Given the description of an element on the screen output the (x, y) to click on. 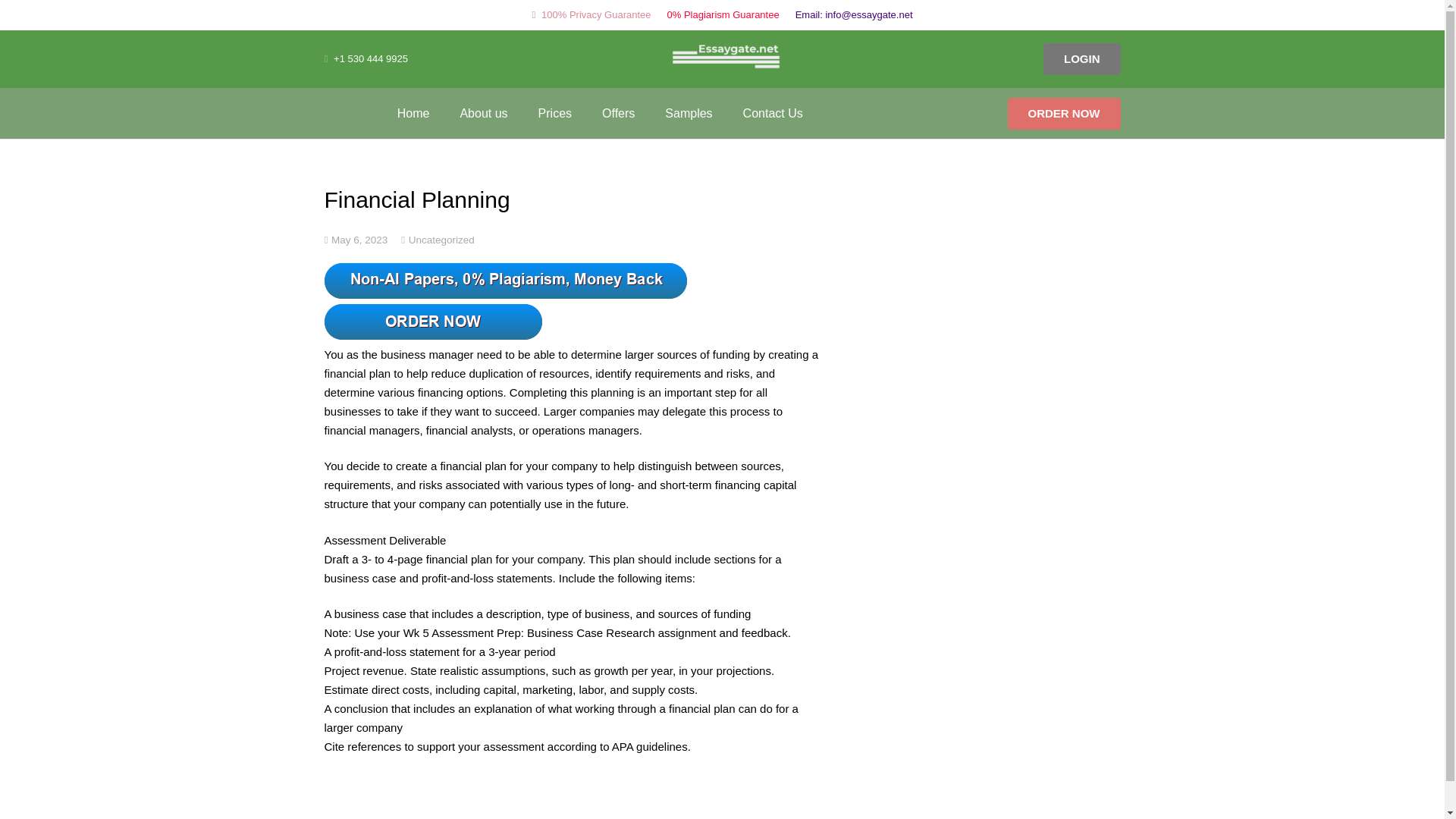
Samples (687, 112)
Offers (617, 112)
Home (413, 112)
LOGIN (1082, 59)
Contact Us (773, 112)
ORDER NOW (1063, 112)
Prices (554, 112)
About us (483, 112)
Uncategorized (441, 238)
